Given the description of an element on the screen output the (x, y) to click on. 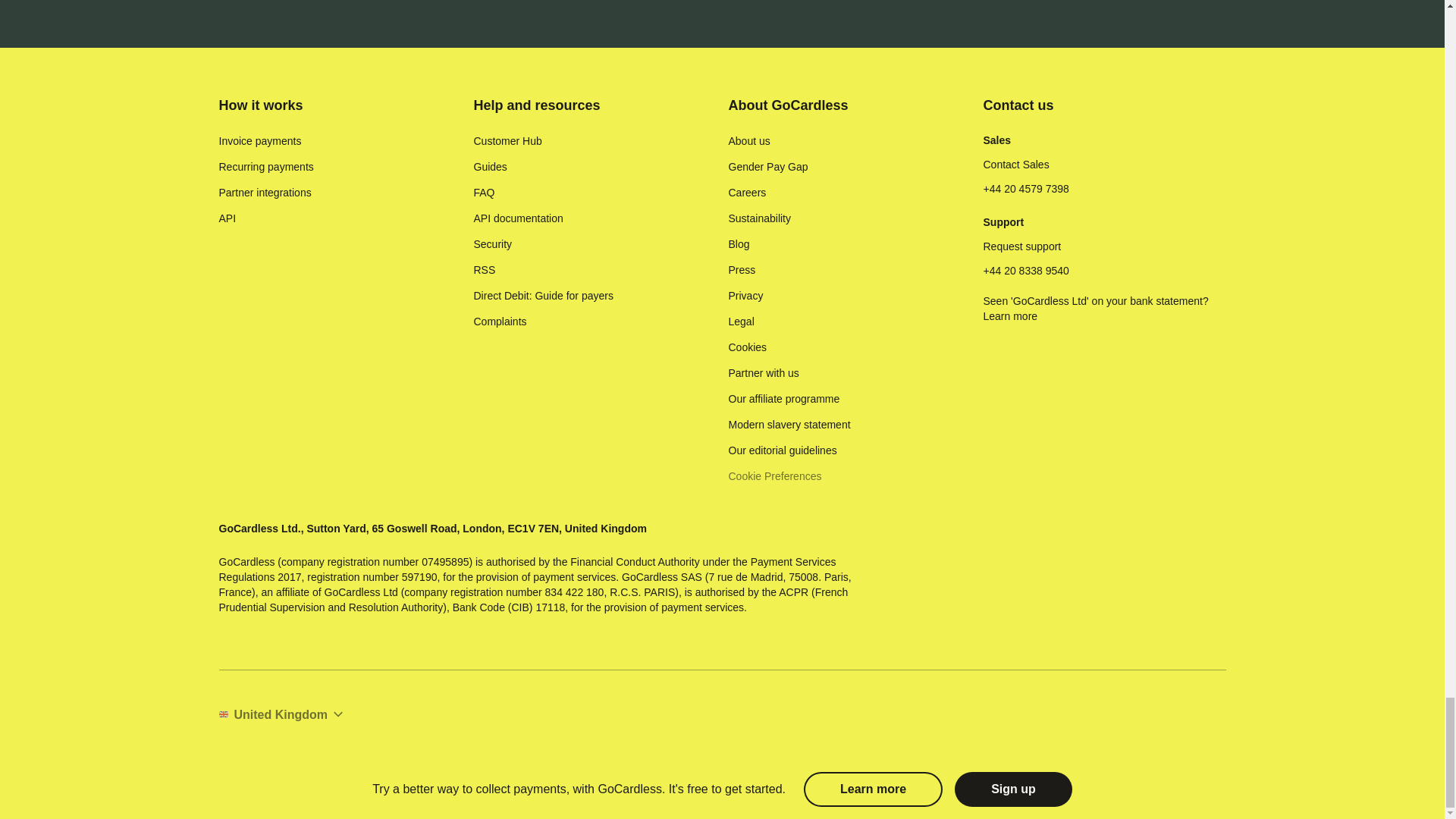
Press (741, 269)
Security (492, 243)
Privacy (745, 295)
Partner integrations (264, 192)
Guides (489, 166)
API (226, 218)
Recurring payments (265, 166)
Customer Hub (507, 140)
API documentation (517, 218)
Complaints (499, 321)
Invoice payments (259, 140)
Blog (738, 243)
Direct Debit: Guide for payers (542, 295)
About us (749, 140)
Gender Pay Gap (768, 166)
